Given the description of an element on the screen output the (x, y) to click on. 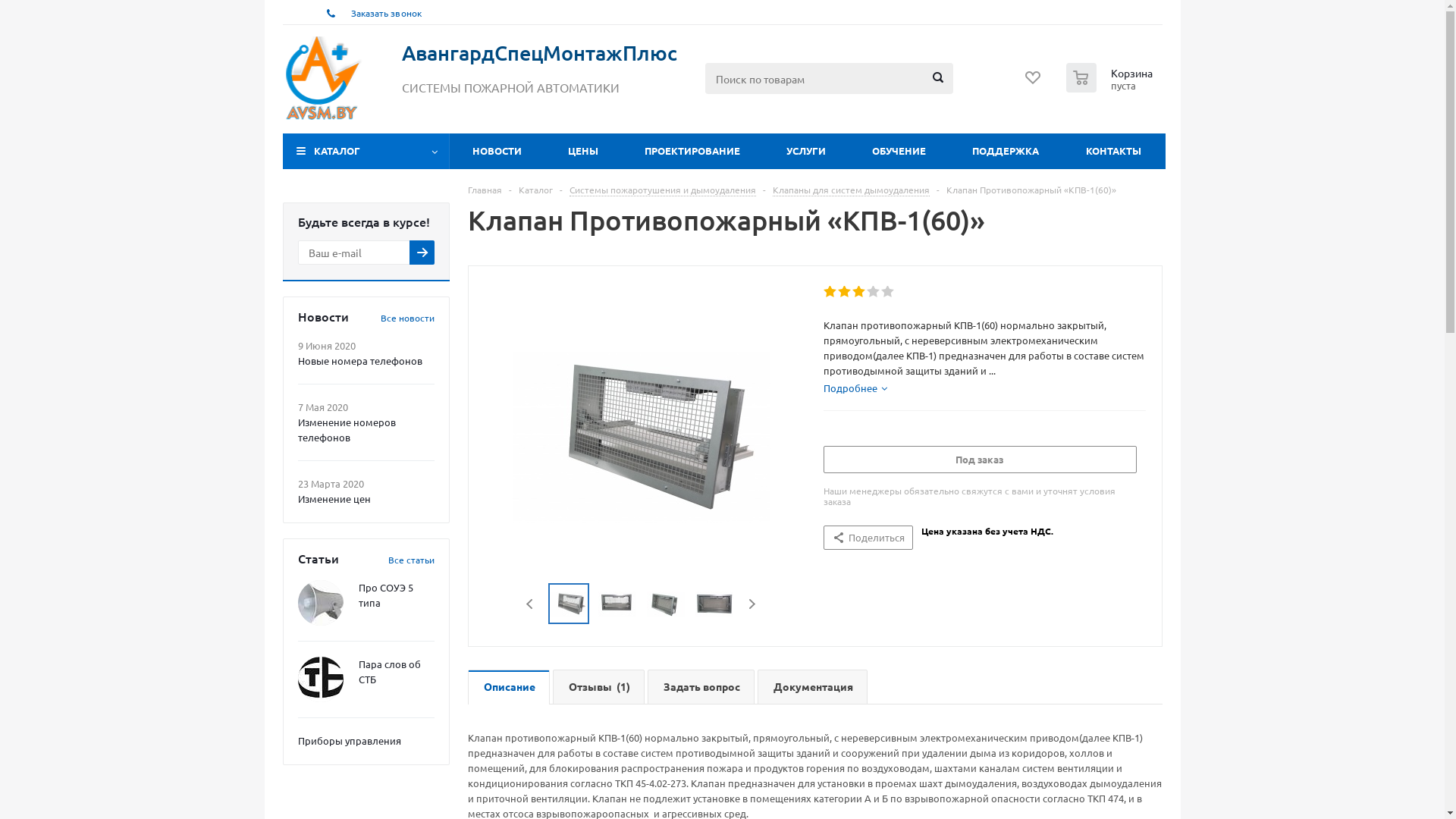
Next Element type: text (751, 604)
1 Element type: hover (830, 291)
3 Element type: hover (859, 291)
4 Element type: hover (873, 291)
Previous Element type: text (530, 604)
5 Element type: hover (888, 291)
2 Element type: hover (844, 291)
